Given the description of an element on the screen output the (x, y) to click on. 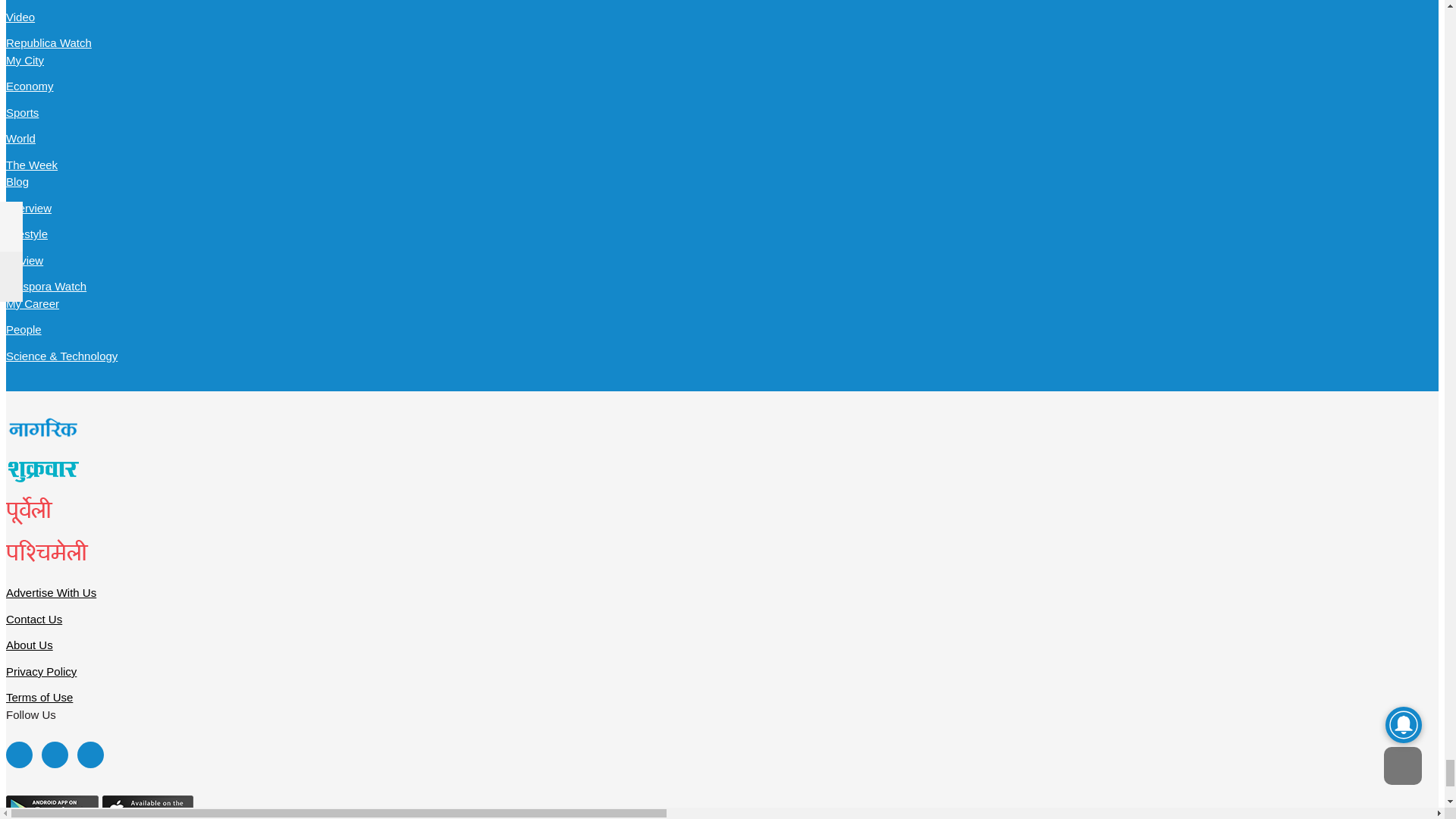
Twitter (55, 755)
Facebook (18, 755)
Youtube (90, 755)
